Given the description of an element on the screen output the (x, y) to click on. 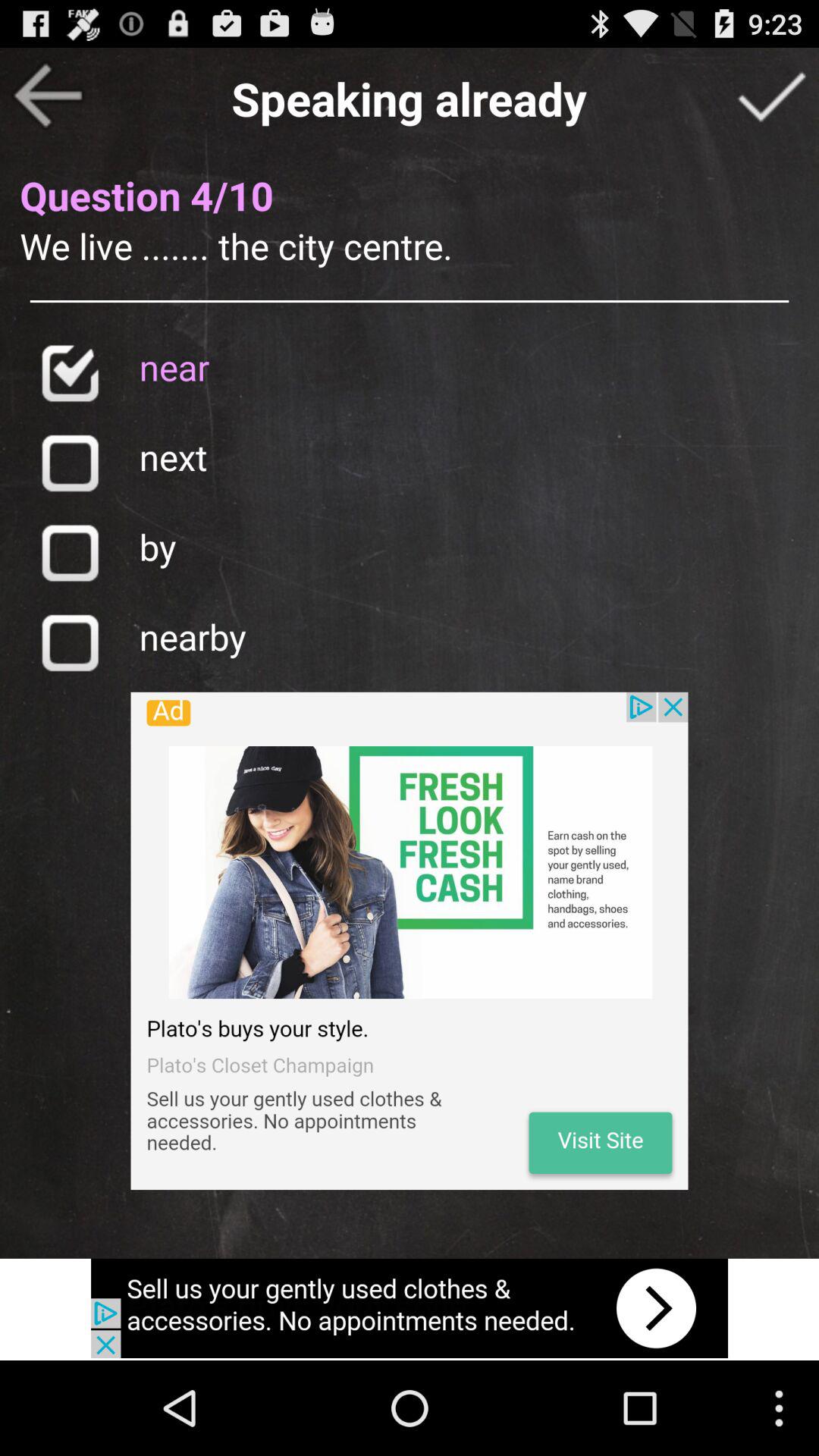
select the given option (69, 552)
